Given the description of an element on the screen output the (x, y) to click on. 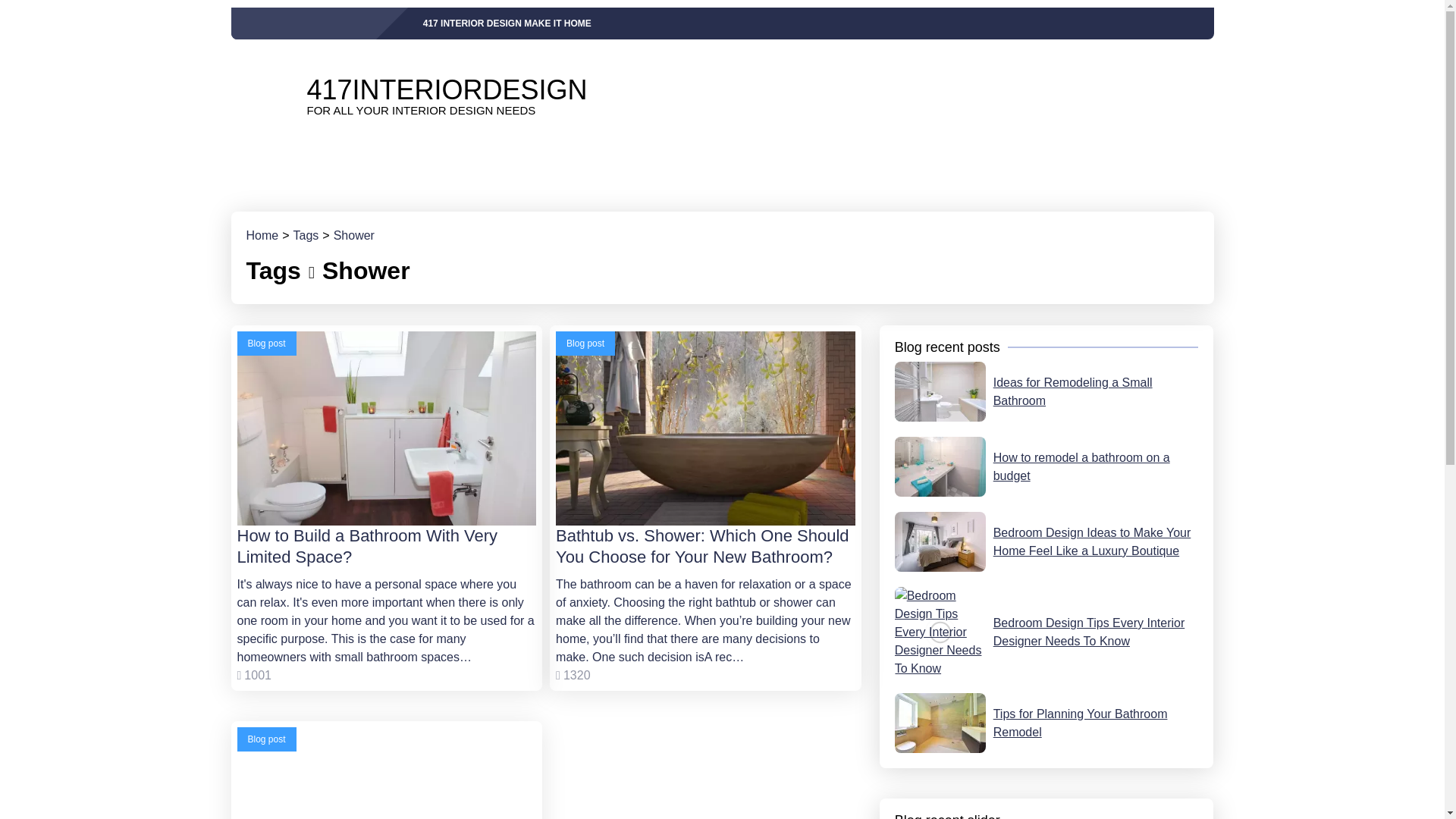
Ideas for Remodeling a Small Bathroom (1046, 391)
How to remodel a bathroom on a budget (385, 773)
Shower (353, 96)
Views (353, 235)
Views (252, 675)
Bedroom Design Tips Every Interior Designer Needs To Know (572, 675)
Tips for Planning Your Bathroom Remodel (1046, 632)
How to remodel a bathroom on a budget (1046, 722)
Home (1046, 466)
Tags (262, 235)
How to Build a Bathroom With Very Limited Space? (306, 235)
